Given the description of an element on the screen output the (x, y) to click on. 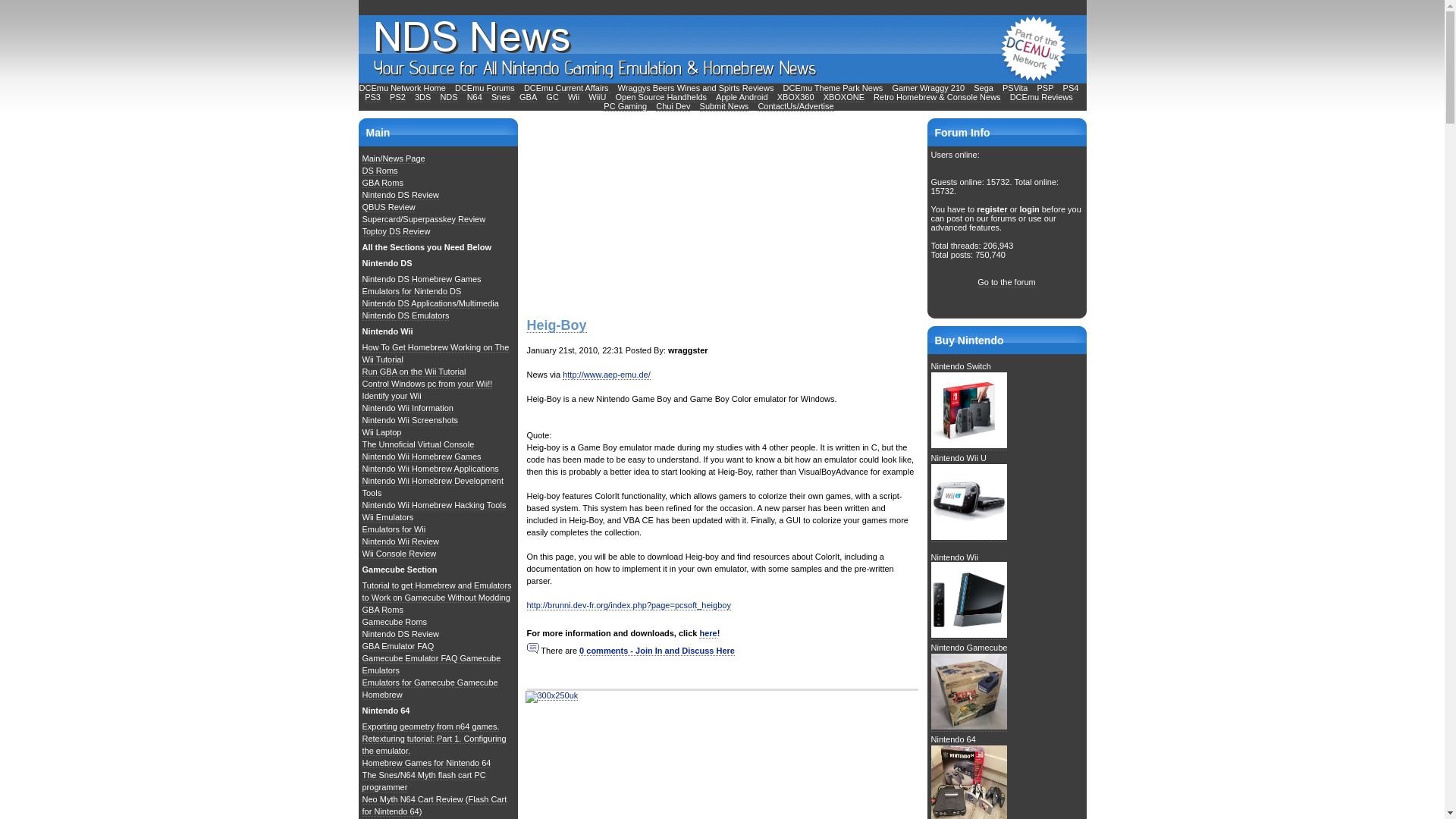
Wii (573, 97)
3DS (422, 97)
PS4 (1070, 88)
DS Roms (379, 171)
Wraggys Beers Wines and Spirts Reviews (695, 88)
N64 (474, 97)
DCEmu Reviews (1041, 97)
Snes (501, 97)
PSVita (1015, 88)
DCEmu Theme Park News (832, 88)
